Given the description of an element on the screen output the (x, y) to click on. 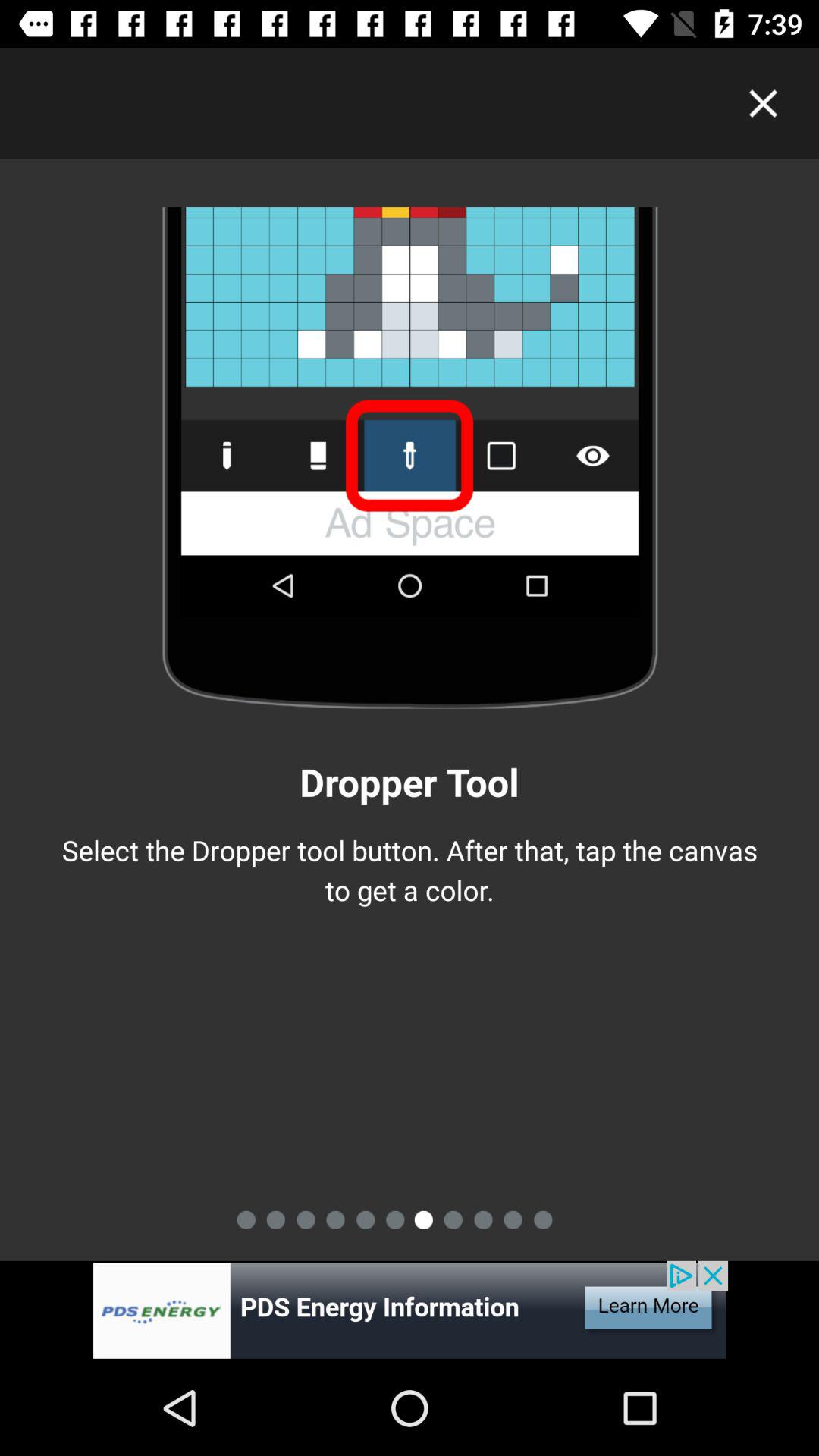
select the dropper tool (409, 1310)
